Given the description of an element on the screen output the (x, y) to click on. 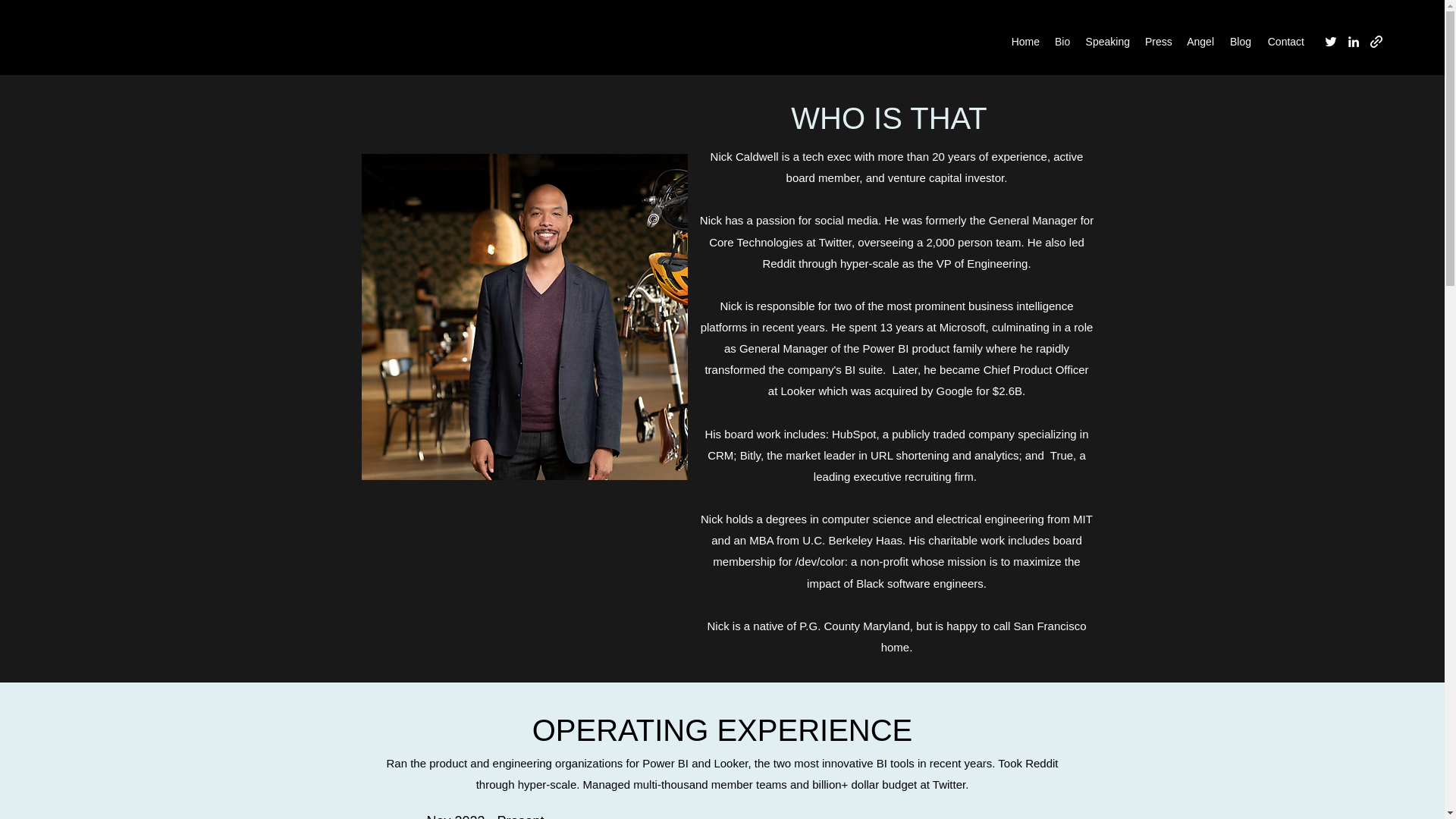
Speaking (1107, 41)
Press (1157, 41)
Contact (1285, 41)
Bio (1061, 41)
Blog (1240, 41)
Home (1024, 41)
Angel (1199, 41)
